Given the description of an element on the screen output the (x, y) to click on. 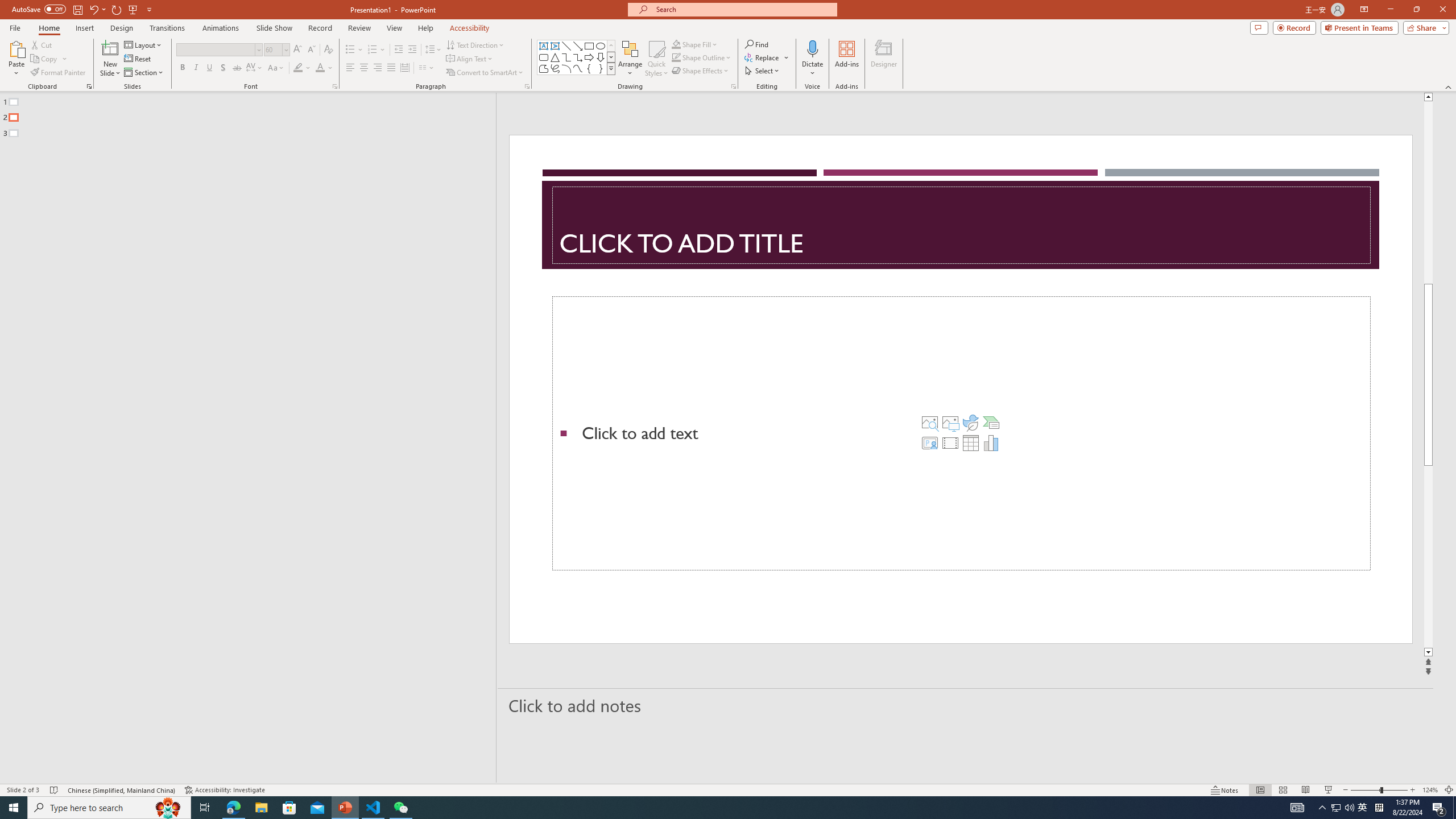
Insert Video (949, 443)
